Given the description of an element on the screen output the (x, y) to click on. 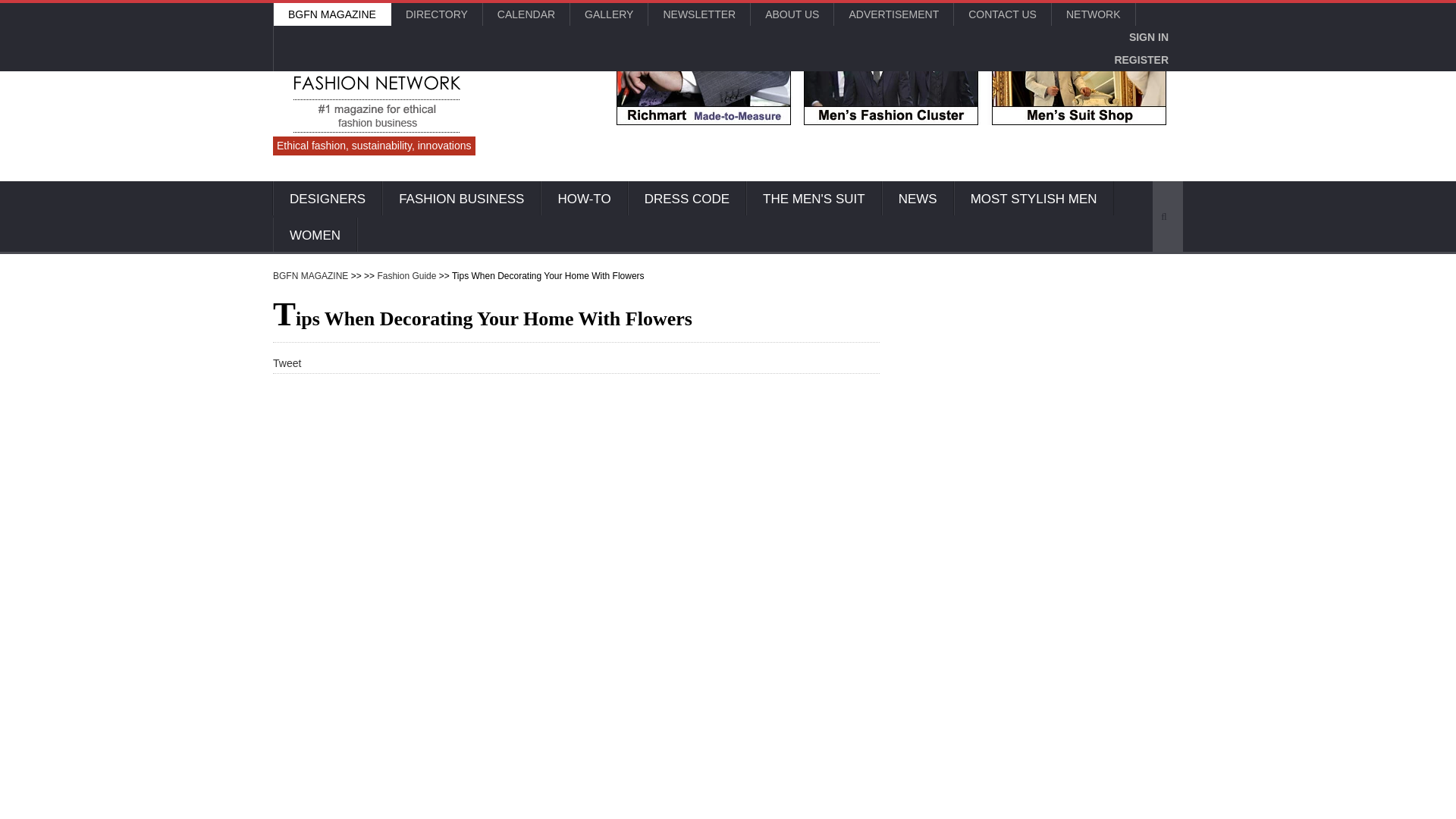
CALENDAR (526, 14)
DESIGNERS (327, 198)
BGFN MAGAZINE (331, 14)
ADVERTISEMENT (893, 14)
NEWSLETTER (698, 14)
DIRECTORY (436, 14)
GALLERY (608, 14)
CONTACT US (1002, 14)
SIGN IN (1148, 36)
REGISTER (1140, 59)
